Given the description of an element on the screen output the (x, y) to click on. 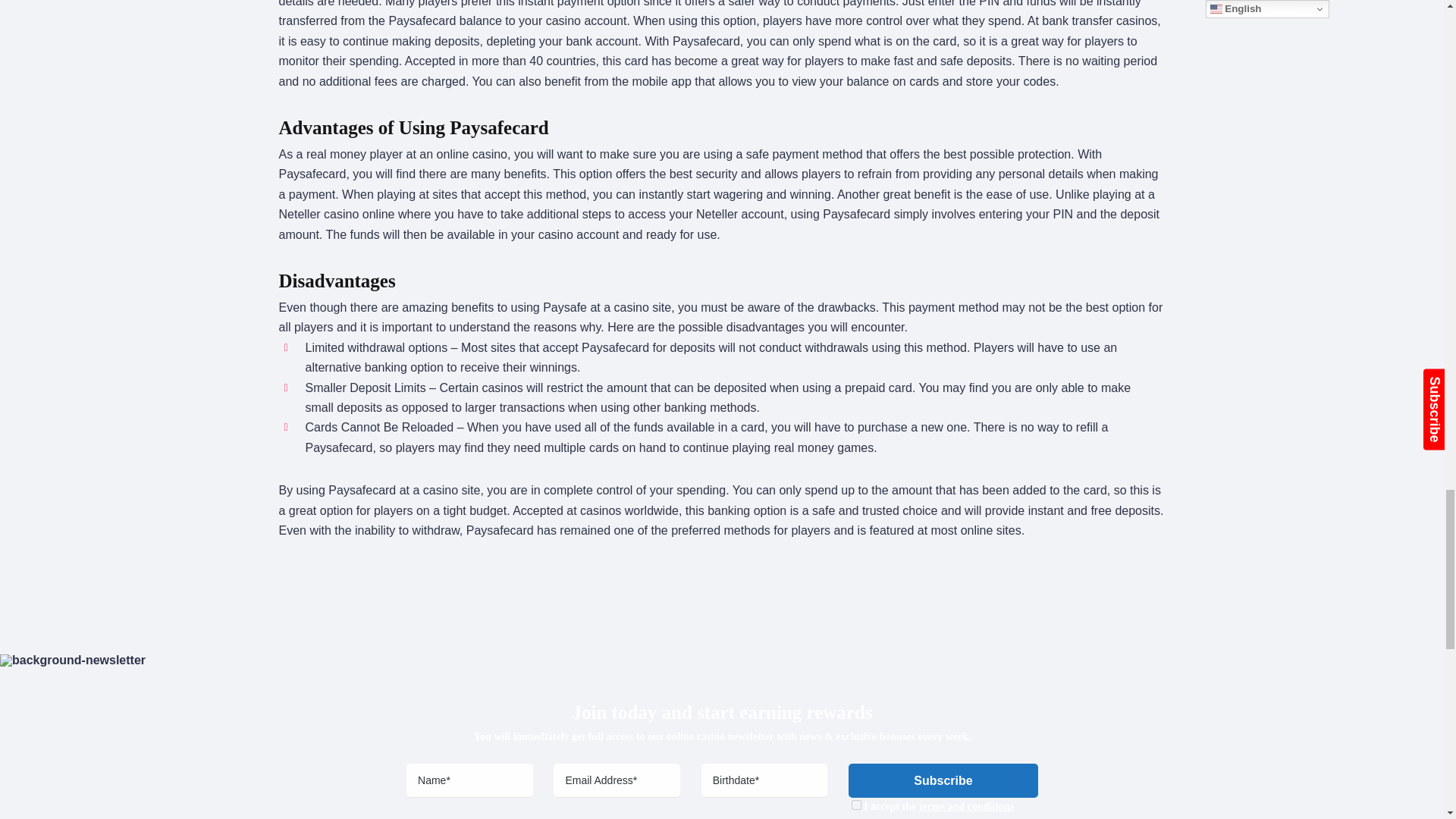
on (856, 804)
Subscribe (943, 780)
